Given the description of an element on the screen output the (x, y) to click on. 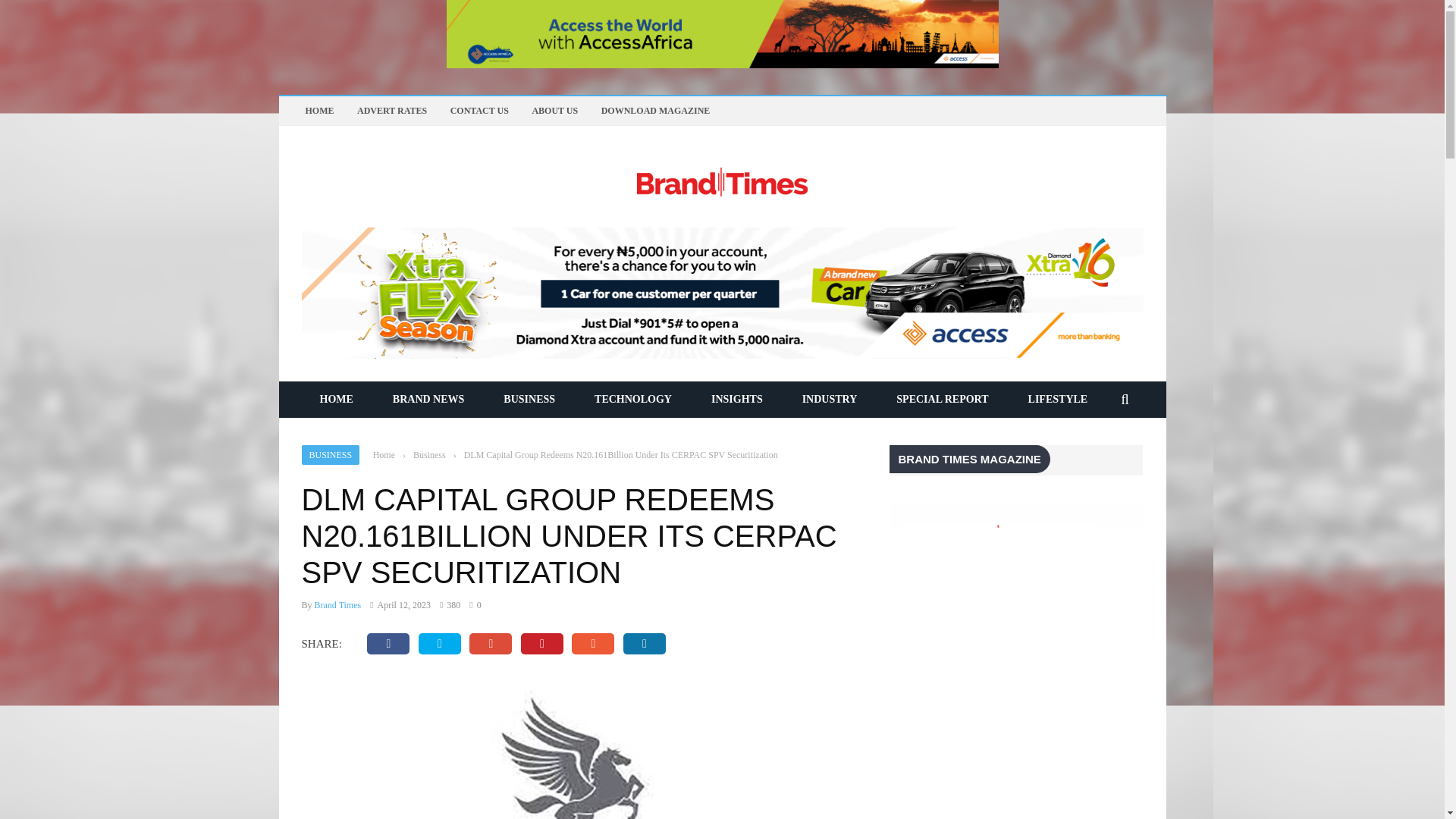
CONTACT US (478, 110)
ABOUT US (554, 110)
BUSINESS (528, 398)
HOME (318, 110)
ADVERT RATES (391, 110)
HOME (336, 398)
BRAND NEWS (428, 398)
DOWNLOAD MAGAZINE (655, 110)
